Given the description of an element on the screen output the (x, y) to click on. 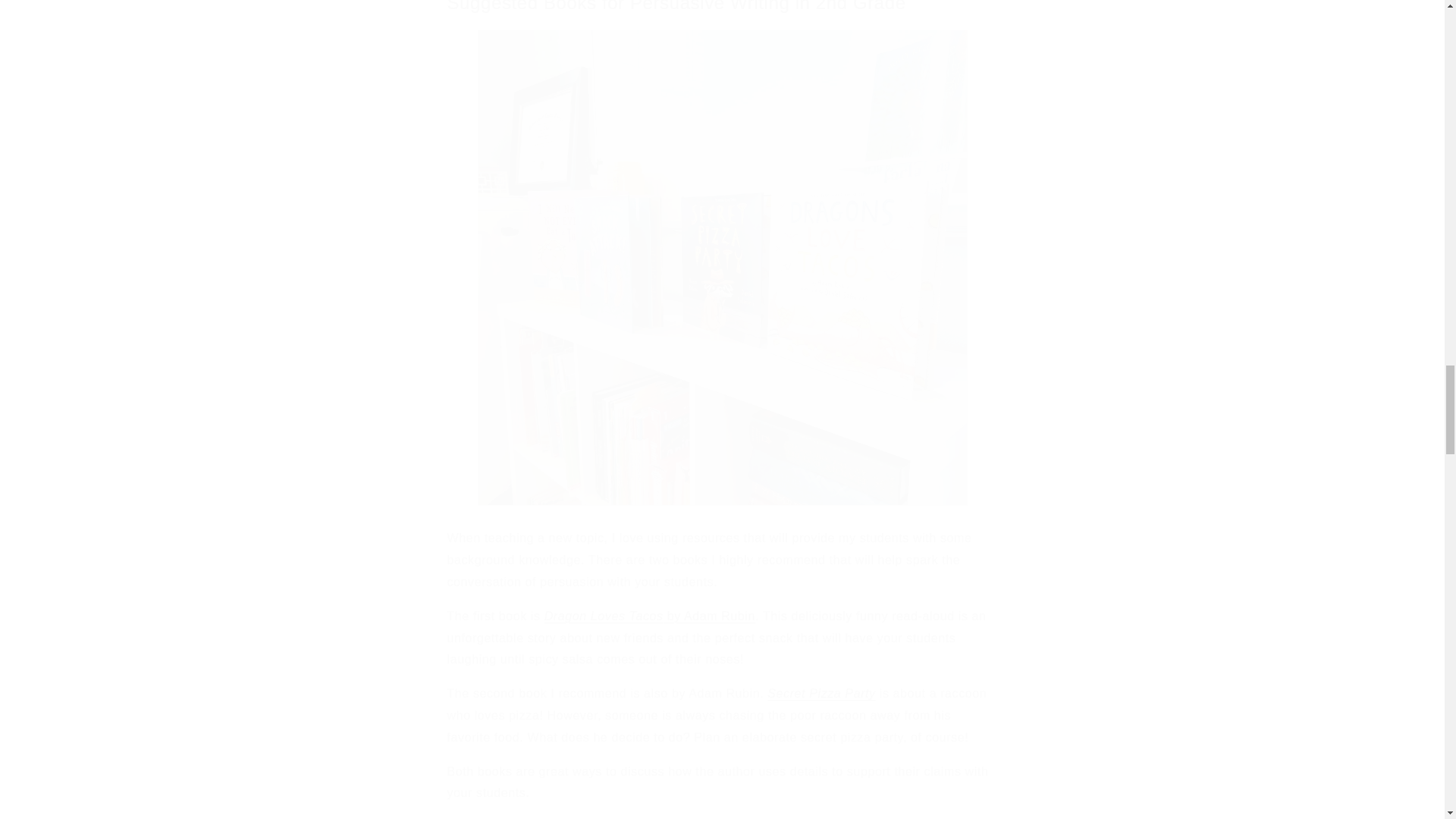
Dragon Loves Tacos by Adam Rubin (649, 615)
Secret Pizza Party (821, 693)
